Given the description of an element on the screen output the (x, y) to click on. 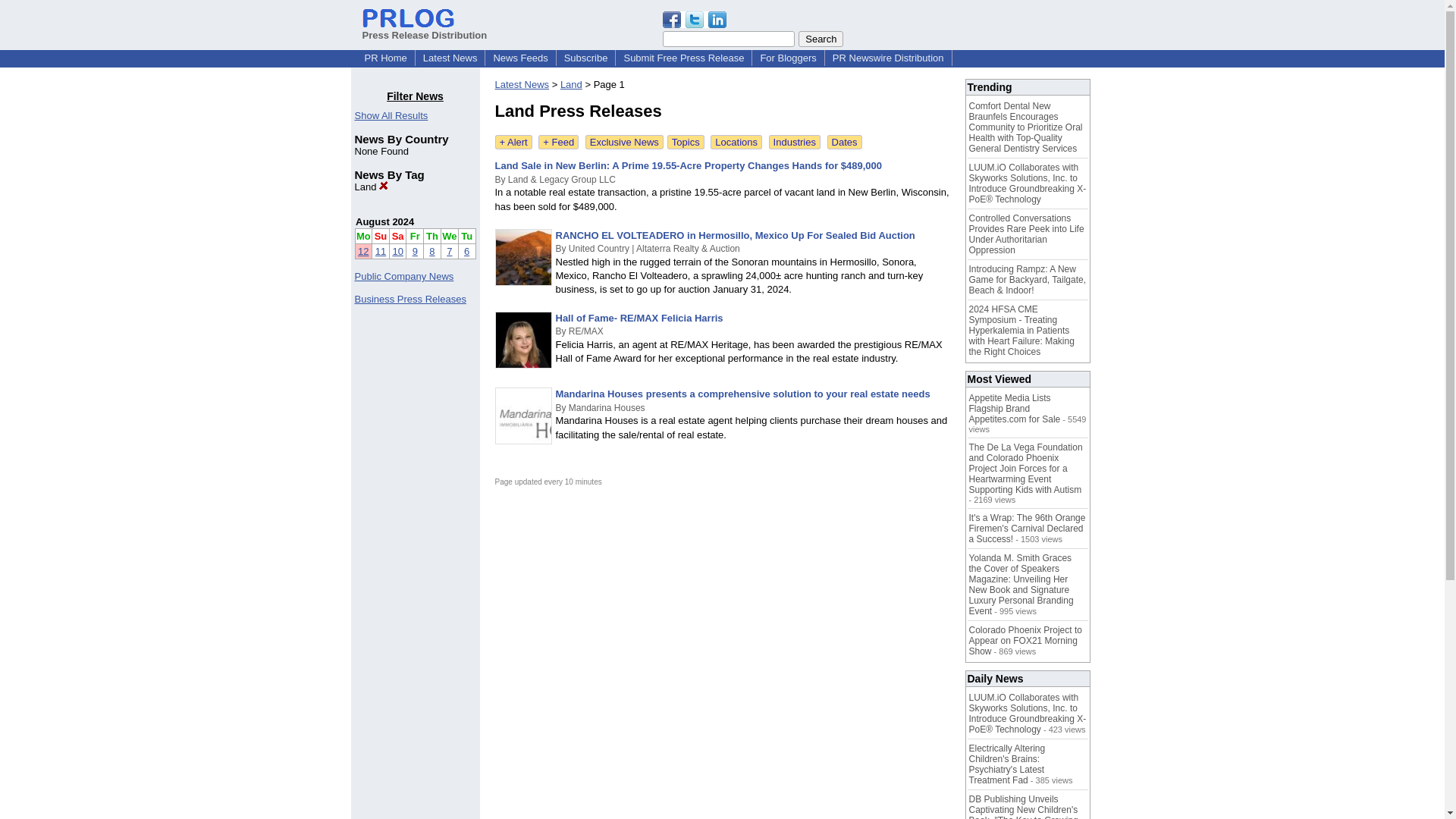
Exclusive News (624, 142)
Subscribe to Land News Feed (558, 142)
Locations (735, 142)
August 2024 (384, 221)
12 (363, 251)
Subscribe (585, 57)
Business Press Releases (410, 298)
Press Release Distribution (424, 29)
Click to remove this filter (371, 186)
Subscribe to Land Email Alert (513, 142)
